Given the description of an element on the screen output the (x, y) to click on. 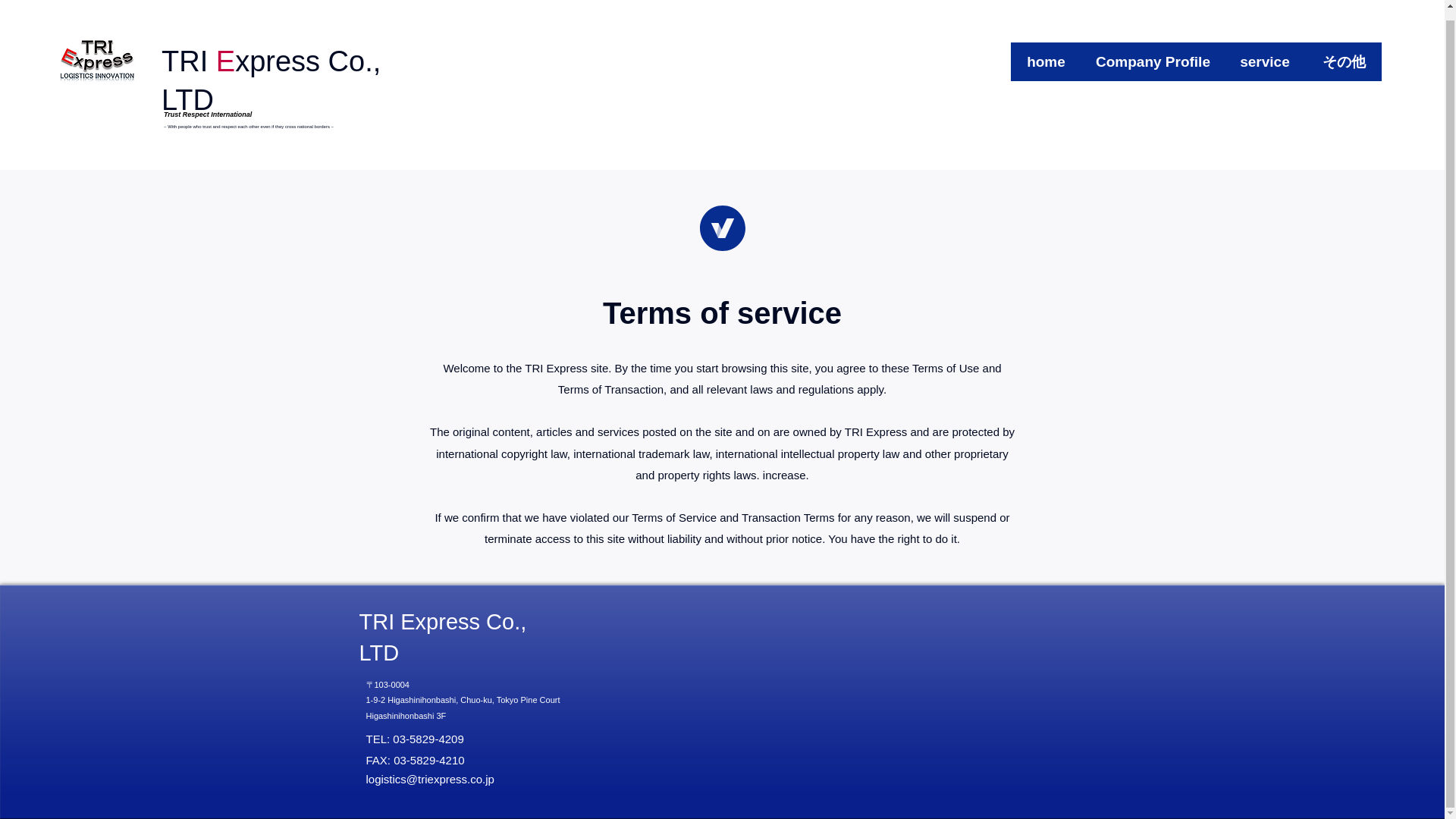
xpress Co., LTD (270, 71)
home (1045, 51)
TRI Express Co., LTD (443, 637)
service (1264, 51)
TRI (184, 51)
Company Profile (1152, 51)
E (224, 51)
